Given the description of an element on the screen output the (x, y) to click on. 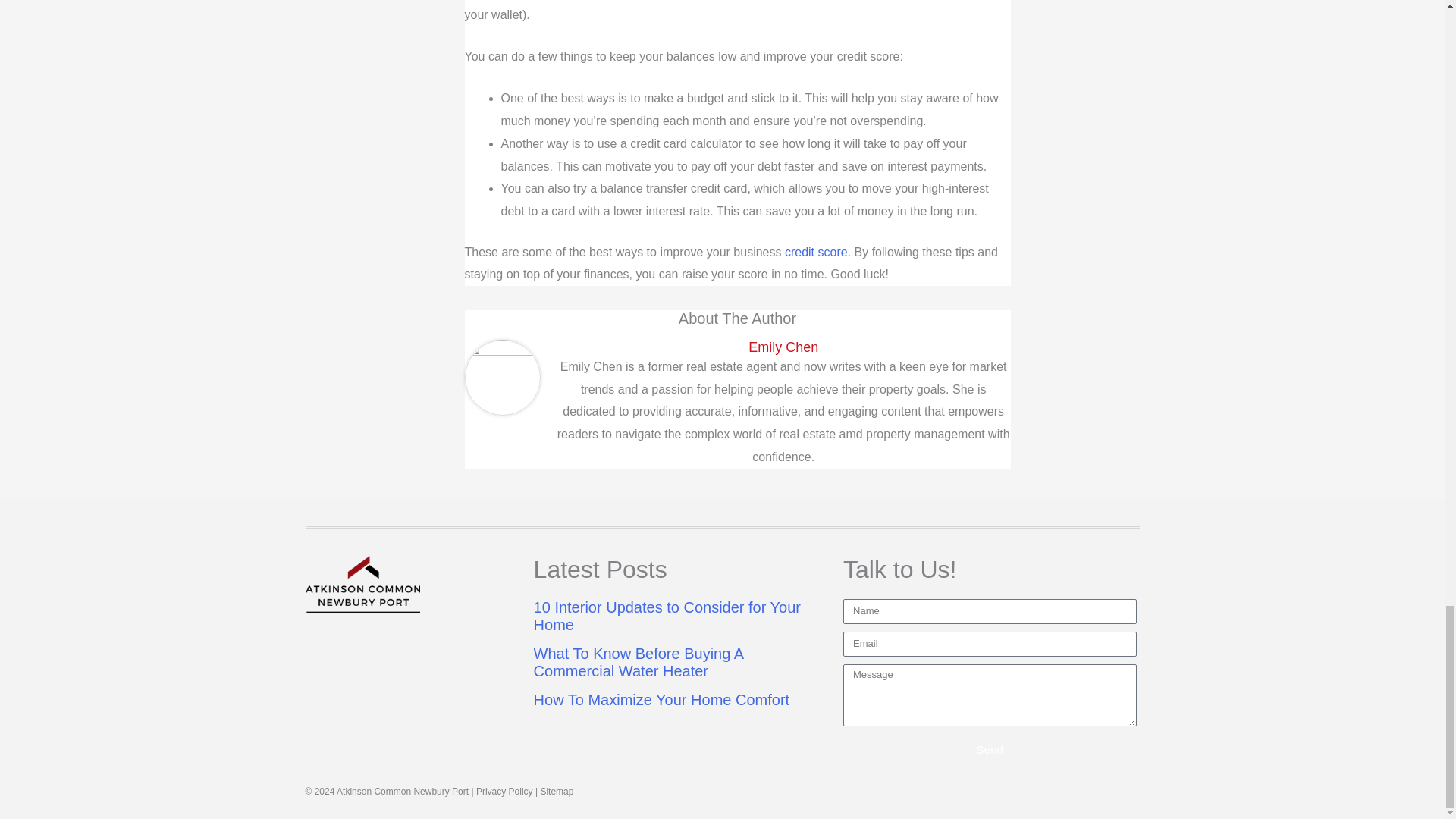
credit score (815, 251)
Privacy Policy (504, 791)
Sitemap (556, 791)
Send (990, 748)
What To Know Before Buying A Commercial Water Heater (638, 662)
Emily Chen (783, 347)
How To Maximize Your Home Comfort (662, 699)
10 Interior Updates to Consider for Your Home (667, 615)
